Given the description of an element on the screen output the (x, y) to click on. 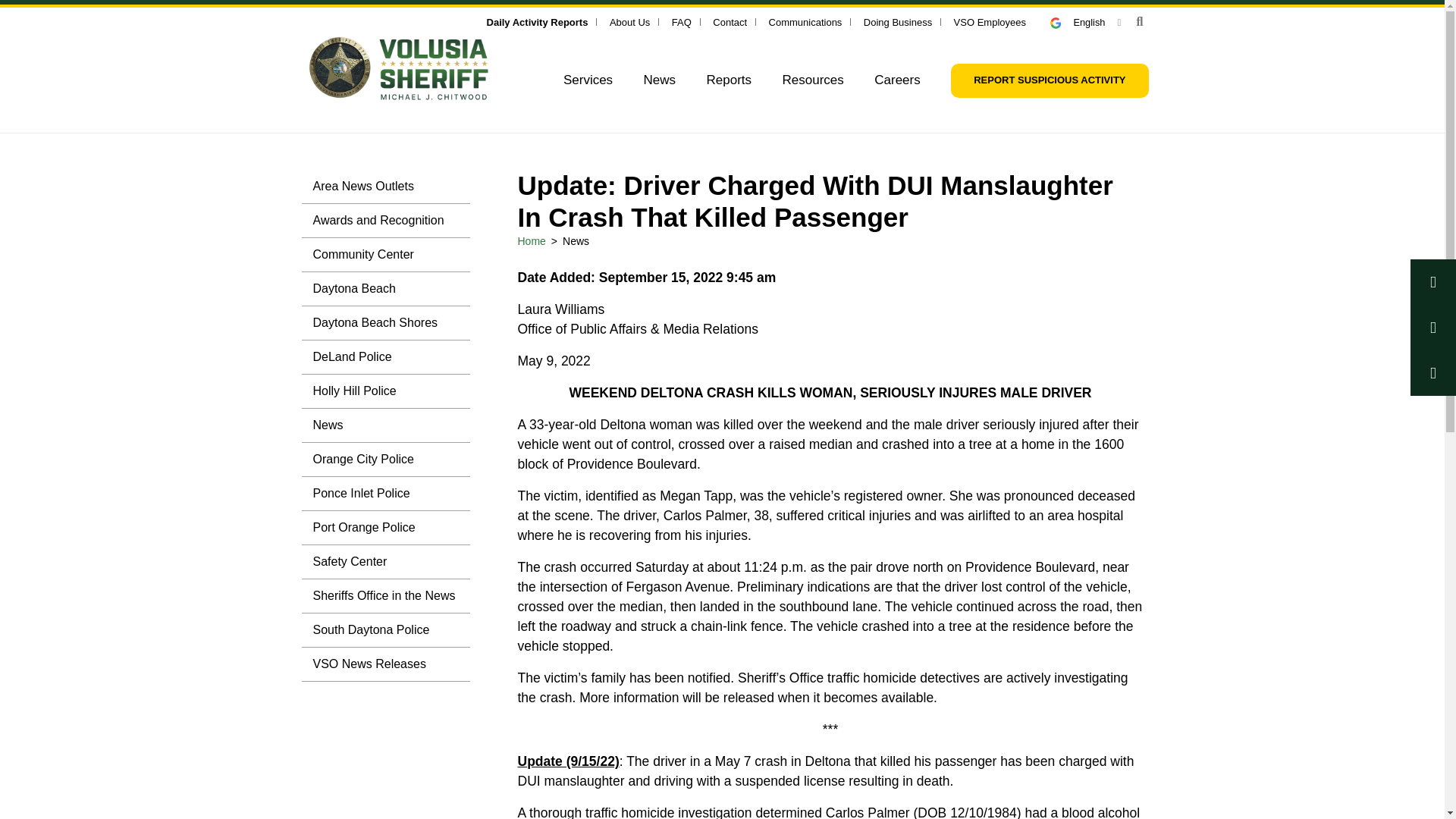
Contact (729, 21)
English (1085, 21)
Translate (1061, 22)
FAQ (681, 21)
VSO Employees (989, 21)
Communications (805, 21)
Translate (1085, 21)
About Us (629, 21)
Doing Business (897, 21)
Daily Activity Reports (537, 21)
